Given the description of an element on the screen output the (x, y) to click on. 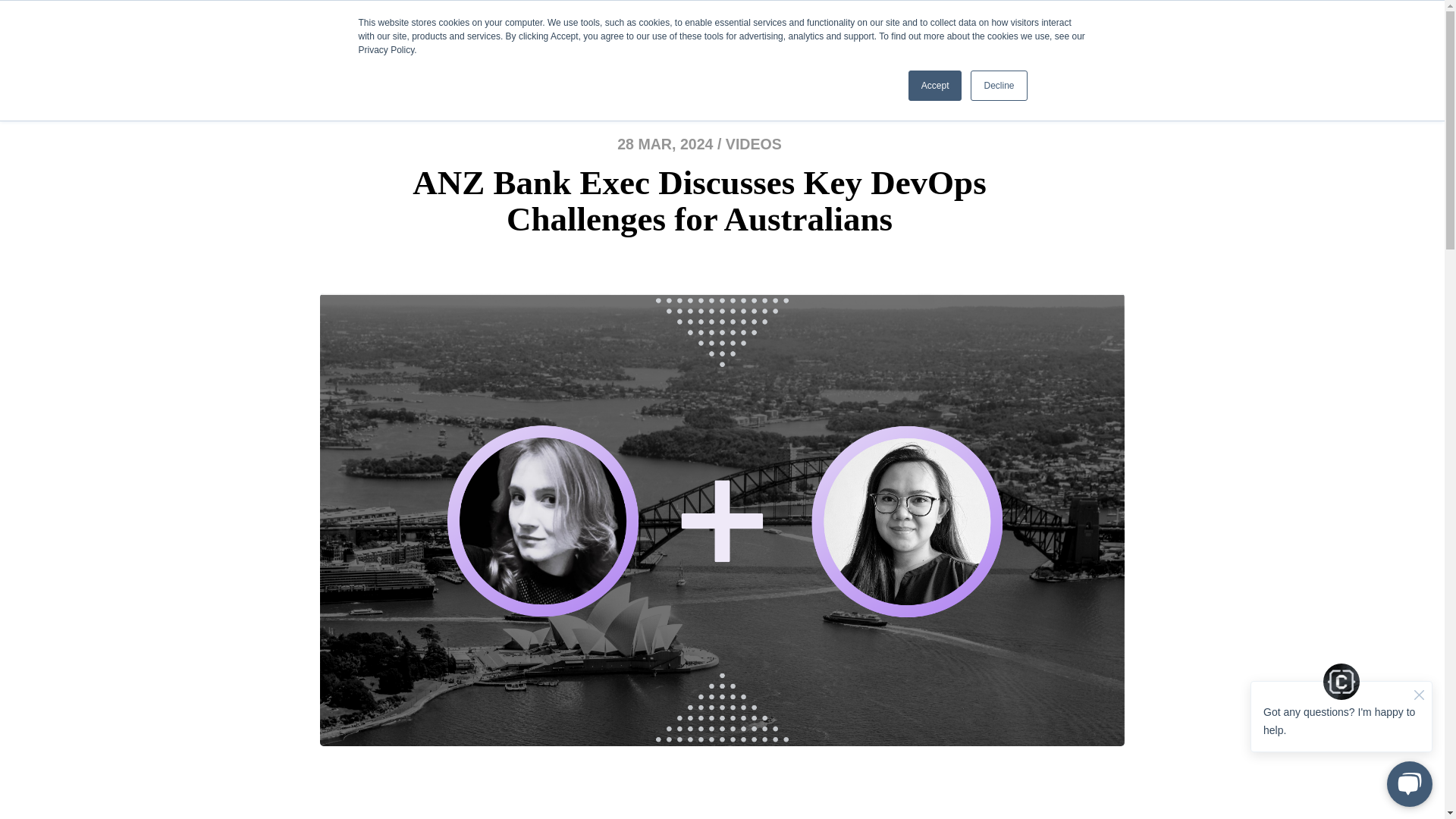
VIDEOS (753, 143)
INFOSEC INSIGHTS (927, 36)
Corinium (391, 34)
SHOW SUBMENU FOR MORE (1121, 36)
SHOW SUBMENU FOR ABOUT (689, 36)
Decline (998, 85)
DATA INSIGHTS (815, 36)
Accept (935, 85)
